Given the description of an element on the screen output the (x, y) to click on. 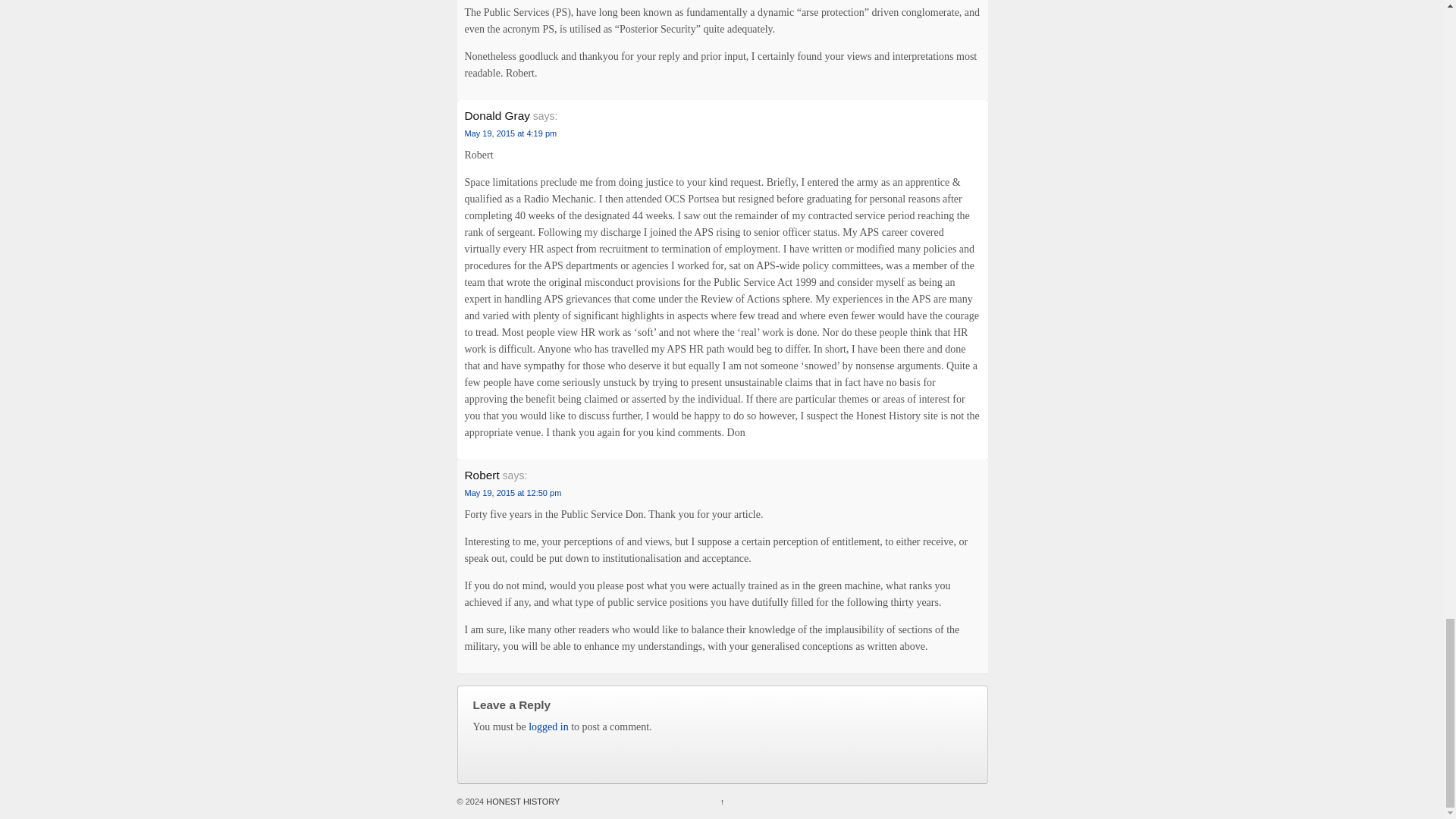
HONEST  HISTORY (521, 800)
